Given the description of an element on the screen output the (x, y) to click on. 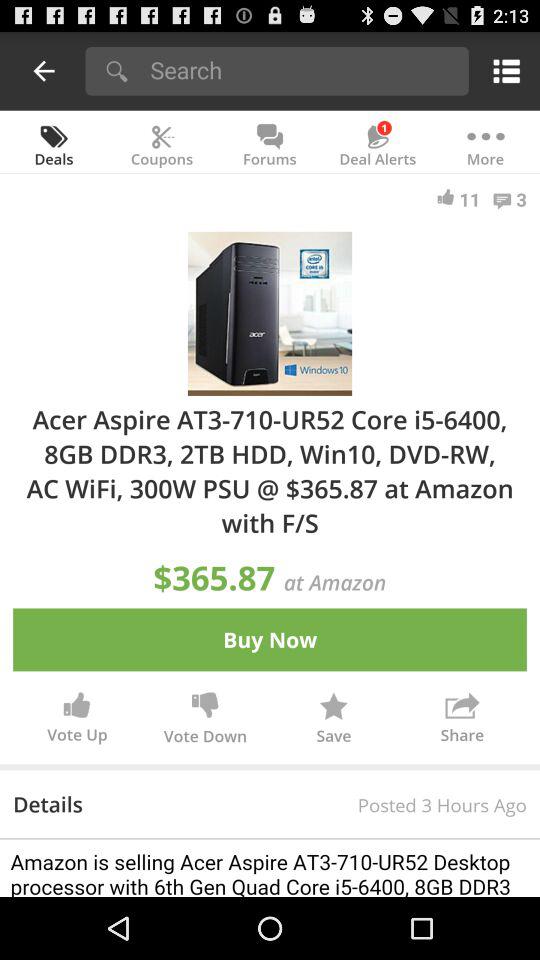
search box (302, 69)
